Given the description of an element on the screen output the (x, y) to click on. 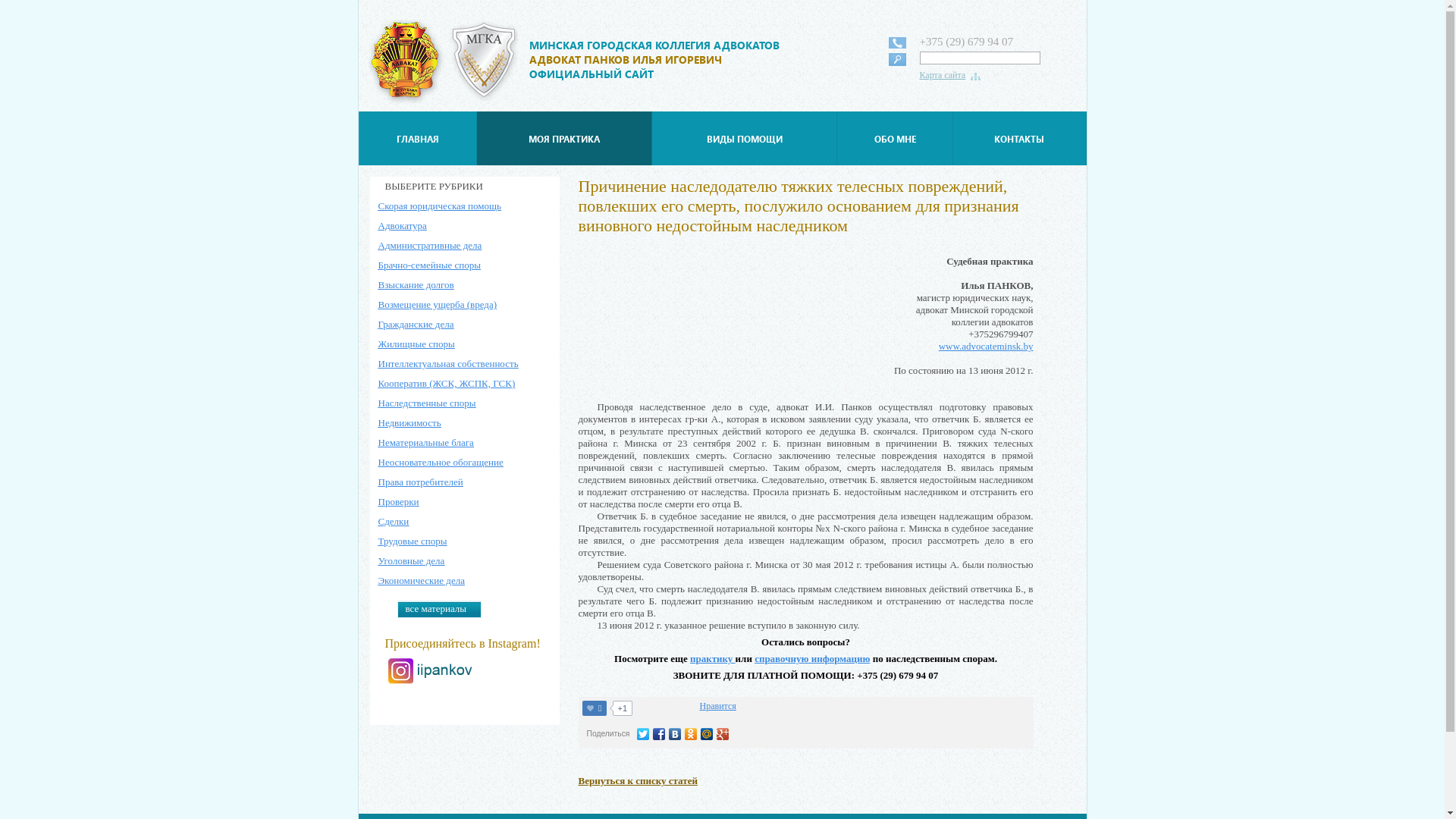
Twitter Element type: hover (643, 733)
www.advocateminsk.by Element type: text (985, 345)
Google Plus Element type: hover (723, 733)
Facebook Element type: hover (659, 733)
